Given the description of an element on the screen output the (x, y) to click on. 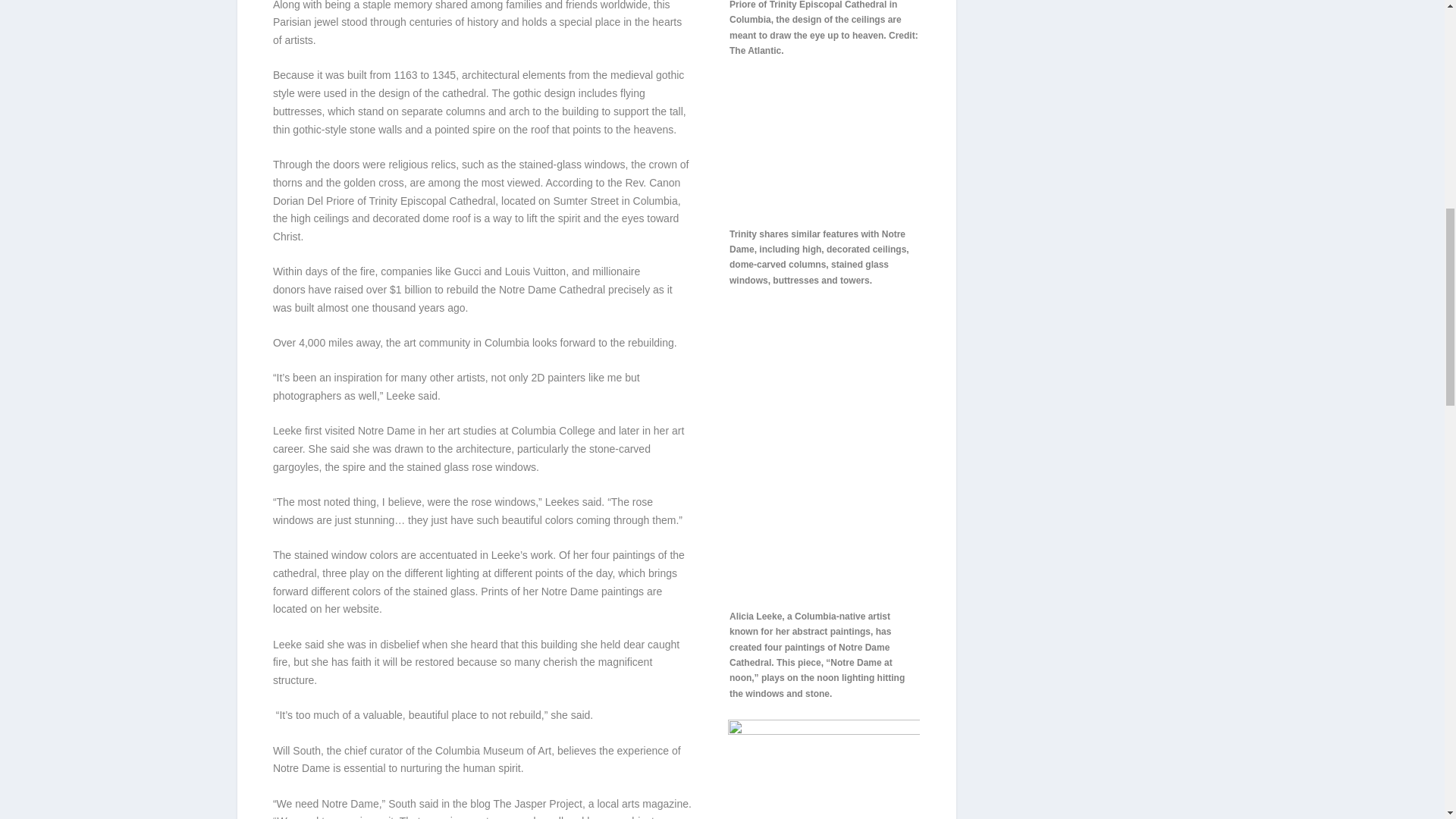
website (360, 608)
blog (479, 803)
